Given the description of an element on the screen output the (x, y) to click on. 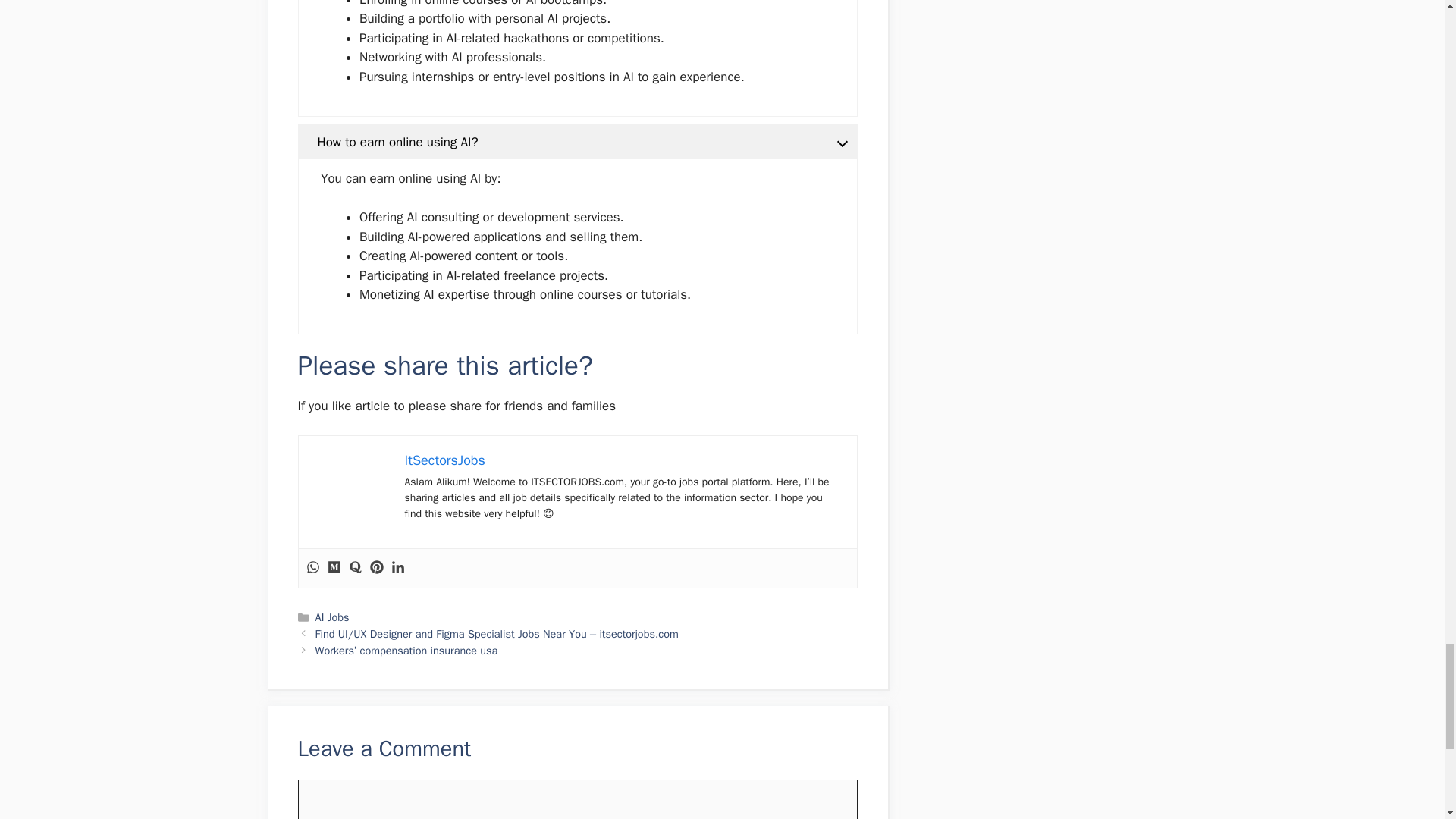
ItSectorsJobs (444, 460)
AI Jobs (332, 617)
